Given the description of an element on the screen output the (x, y) to click on. 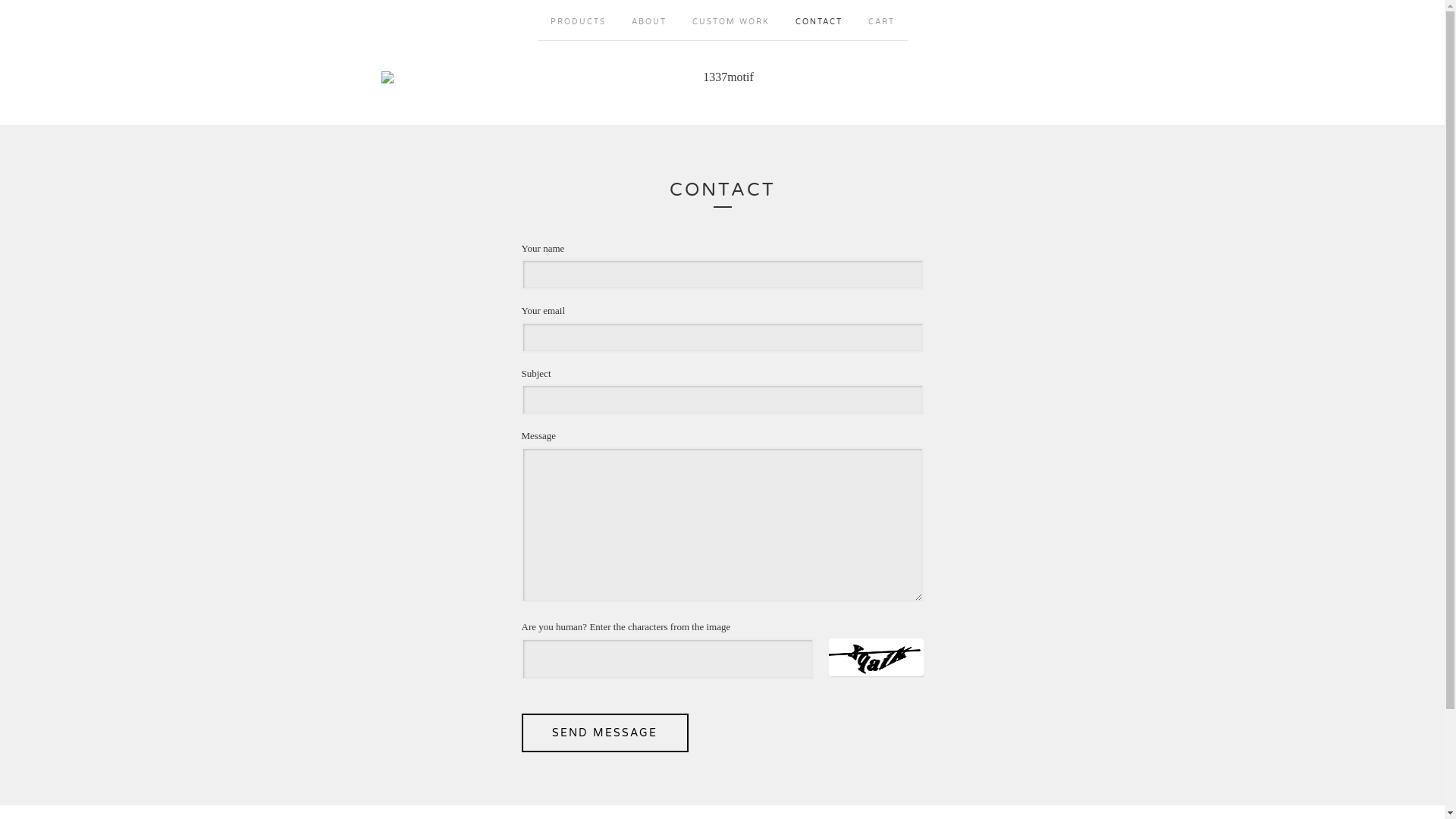
CUSTOM WORK Element type: text (730, 20)
PRODUCTS Element type: text (577, 20)
ABOUT Element type: text (648, 20)
SEND MESSAGE Element type: text (604, 732)
CONTACT Element type: text (818, 20)
CART Element type: text (881, 20)
